Given the description of an element on the screen output the (x, y) to click on. 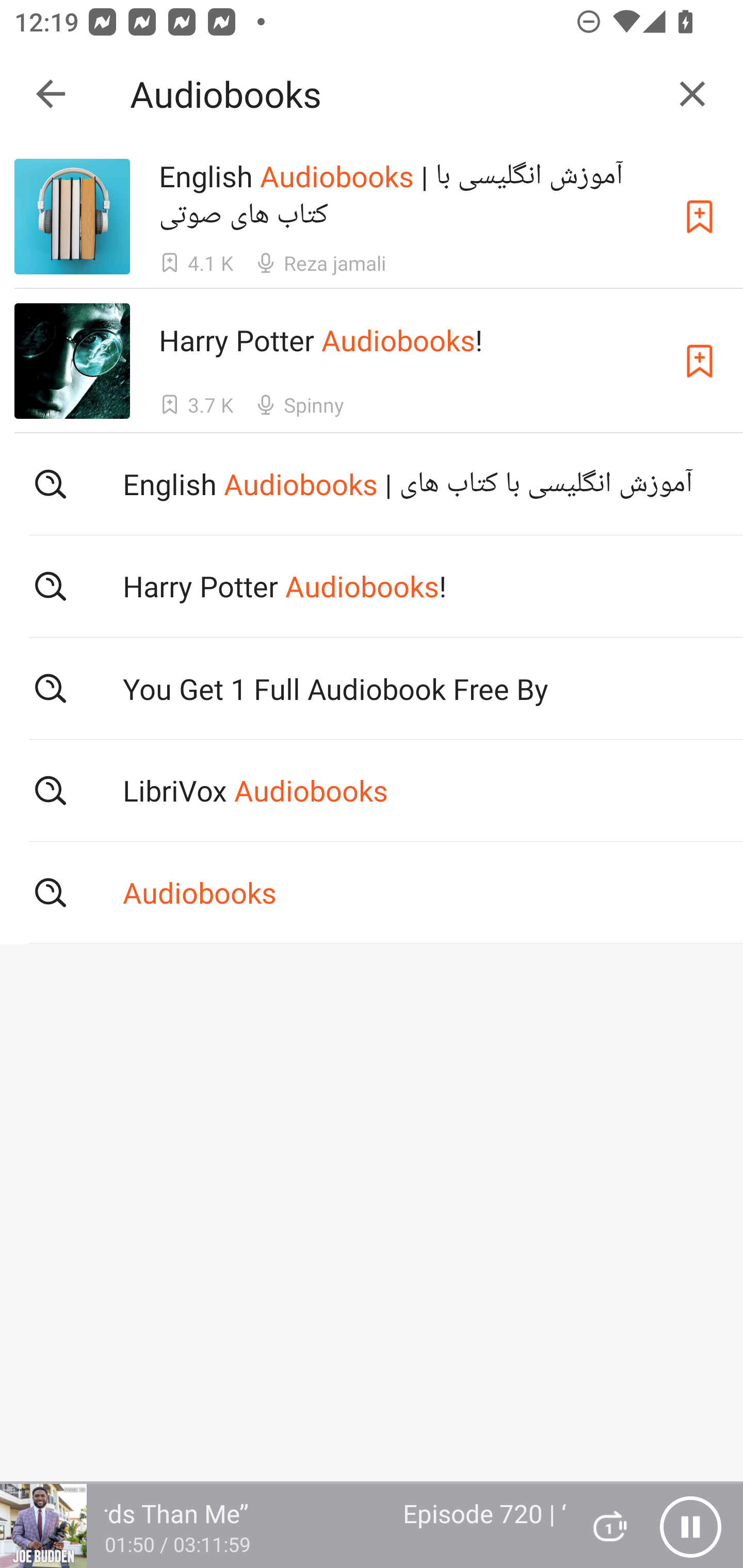
Collapse (50, 93)
Clear query (692, 93)
Audiobooks (393, 94)
Subscribe (699, 216)
Subscribe (699, 360)
 Harry Potter Audiobooks! (371, 585)
 LibriVox Audiobooks (371, 791)
 Audiobooks (371, 892)
Pause (690, 1526)
